Given the description of an element on the screen output the (x, y) to click on. 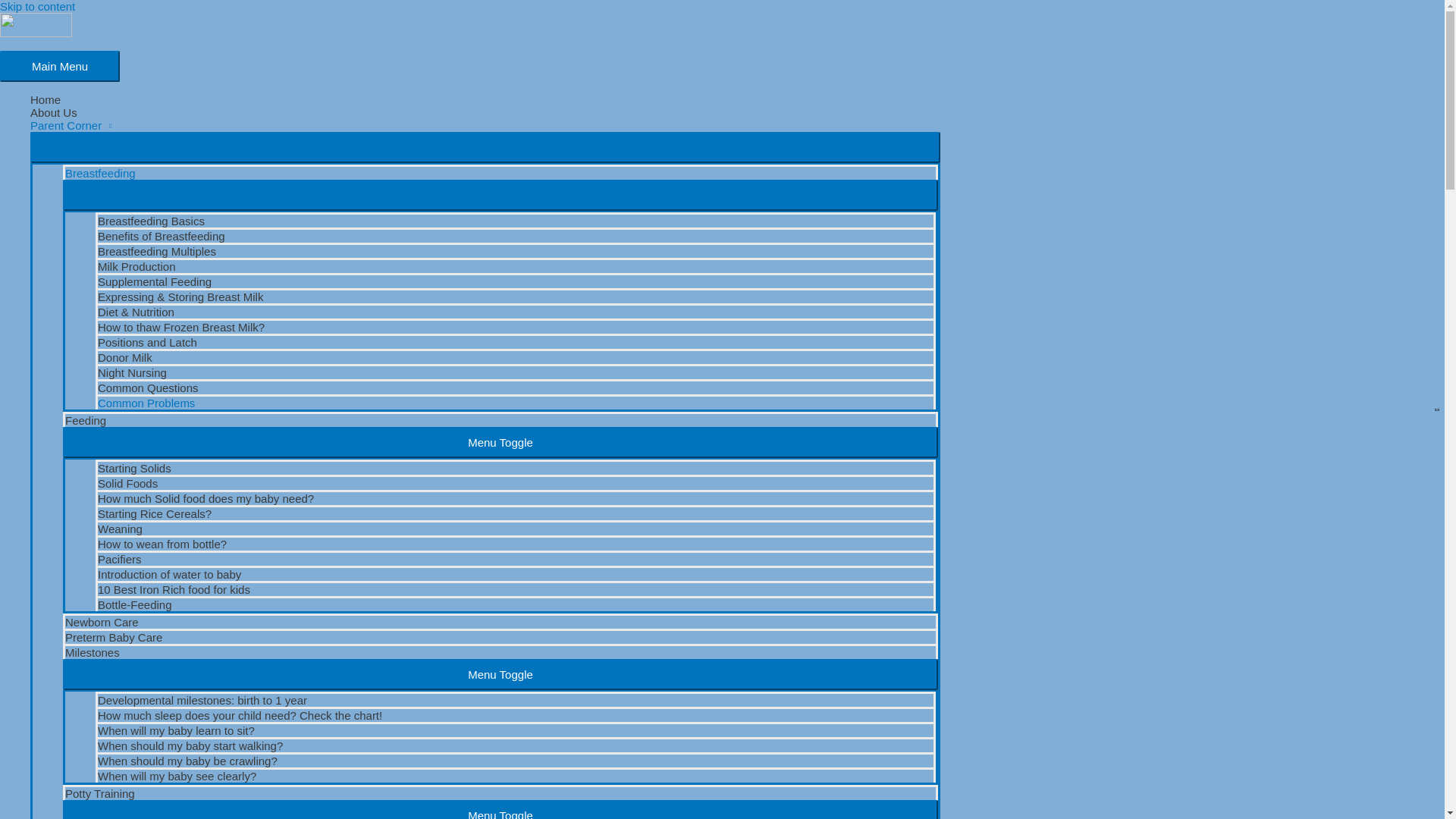
Breastfeeding Multiples (516, 249)
Milestones (499, 651)
Menu Toggle (485, 146)
Preterm Baby Care (499, 635)
Positions and Latch (516, 340)
Newborn Care (499, 620)
Pacifiers (516, 557)
How to thaw Frozen Breast Milk? (516, 325)
Skip to content (37, 6)
Breastfeeding (499, 171)
